Given the description of an element on the screen output the (x, y) to click on. 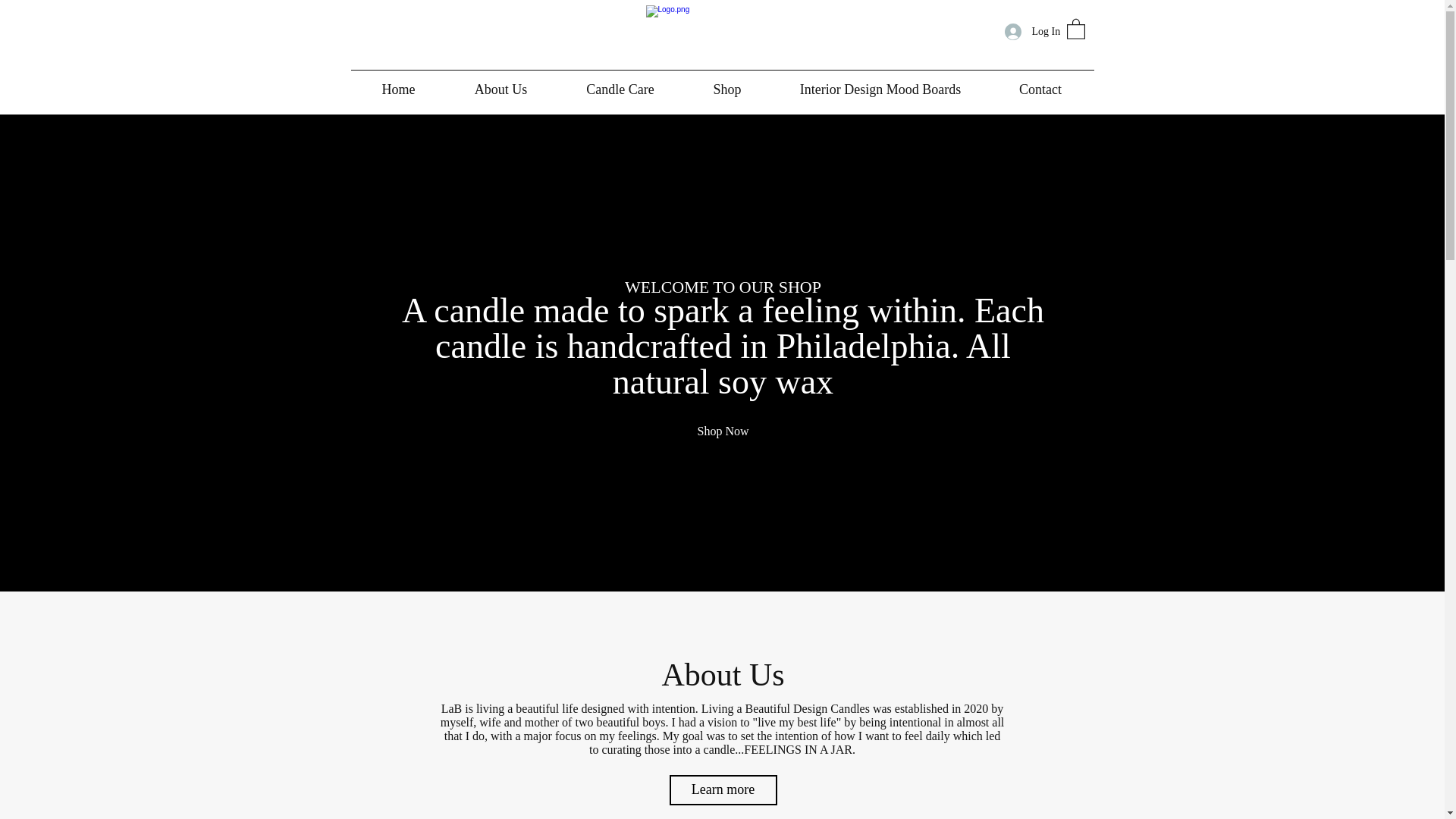
Interior Design Mood Boards (880, 89)
Shop Now (722, 431)
About Us (500, 89)
Learn more (722, 789)
Candle Care (619, 89)
Log In (1026, 31)
Shop (727, 89)
Home (398, 89)
Contact (1040, 89)
